Given the description of an element on the screen output the (x, y) to click on. 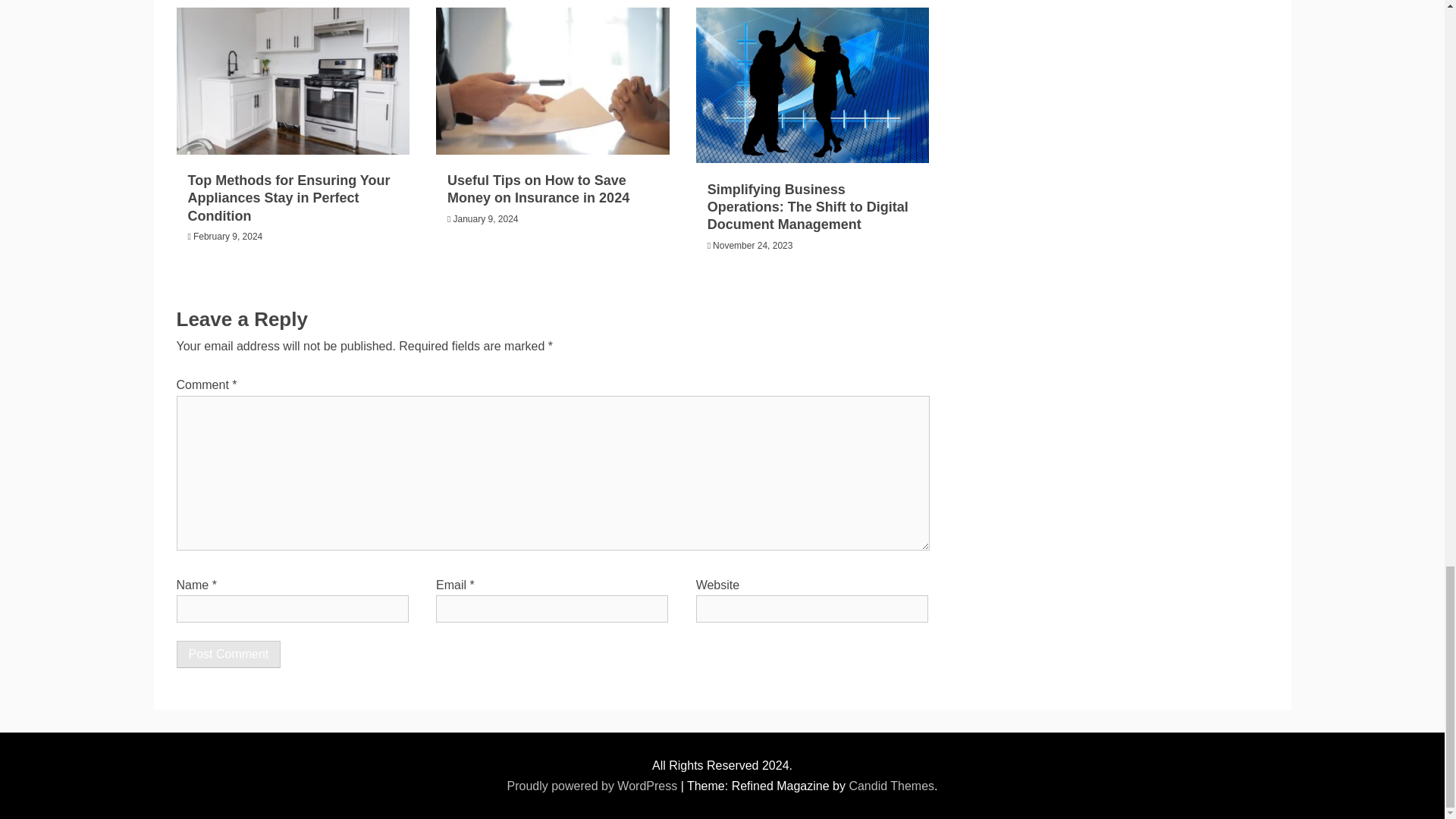
Post Comment (228, 654)
